Given the description of an element on the screen output the (x, y) to click on. 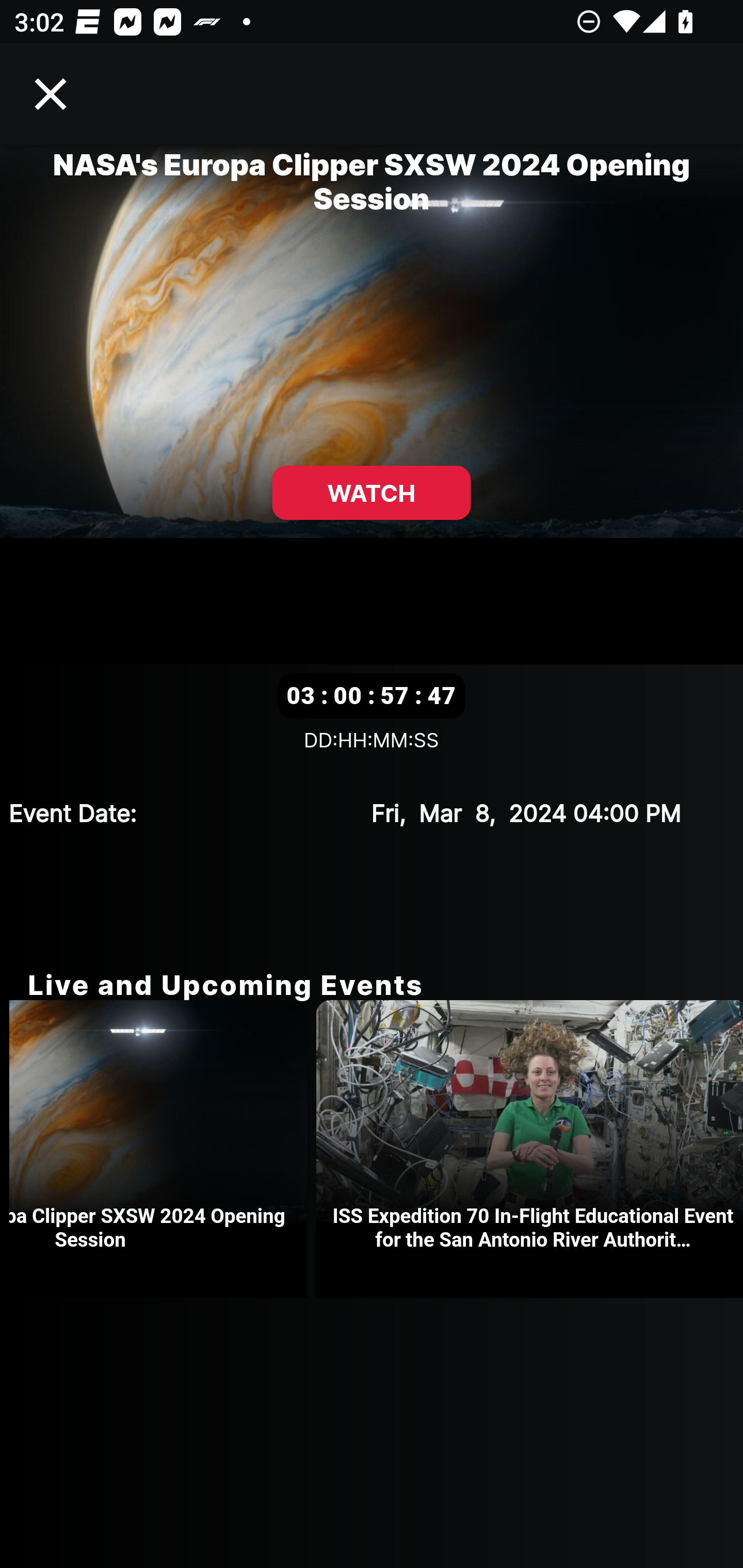
WATCH (371, 492)
NASA's Europa Clipper SXSW 2024 Opening Session (162, 1149)
